Given the description of an element on the screen output the (x, y) to click on. 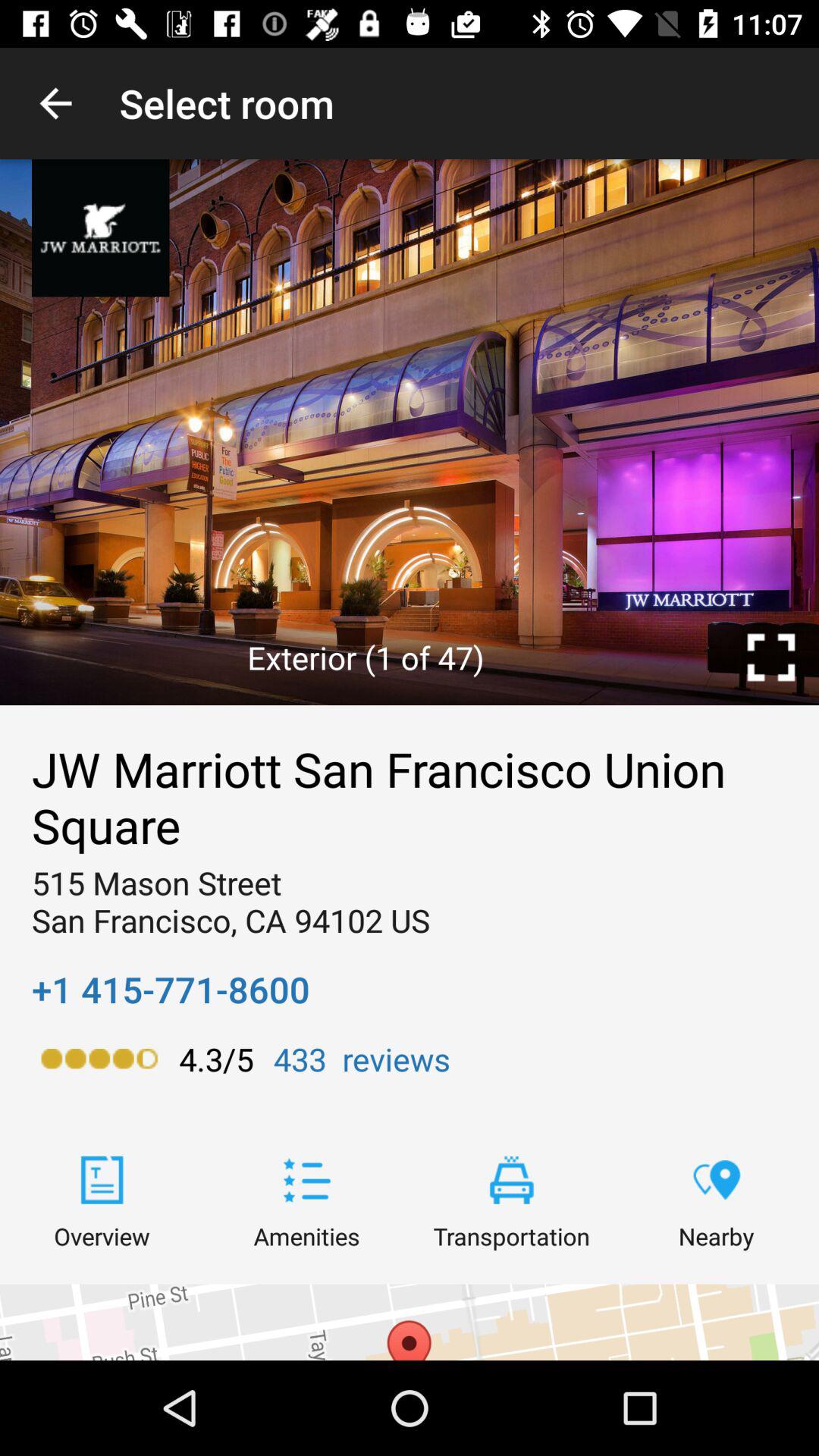
select icon below the 515 mason street icon (170, 989)
